Given the description of an element on the screen output the (x, y) to click on. 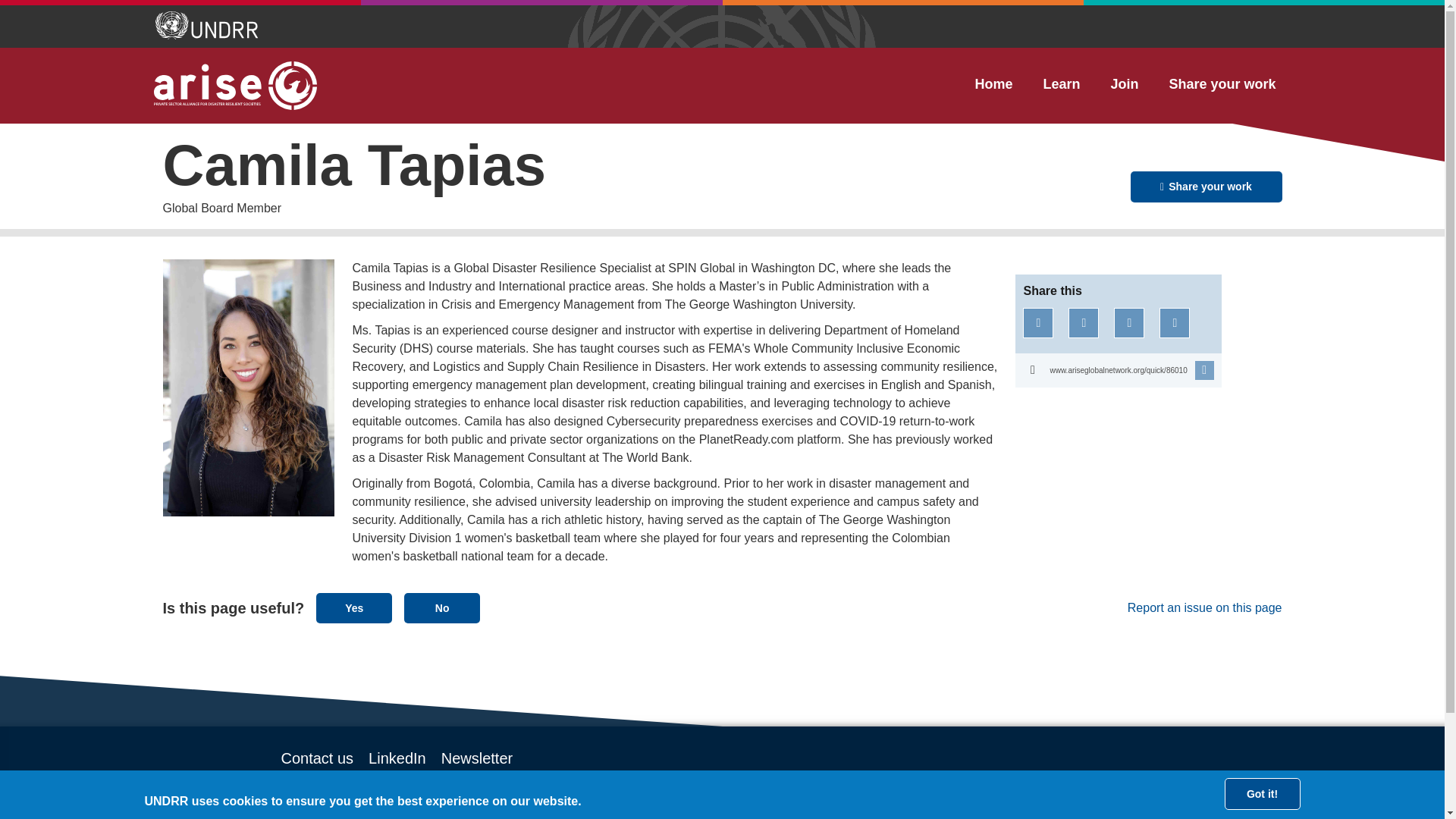
LinkedIn (397, 758)
Share your work (1221, 84)
No (442, 607)
Join (1123, 84)
Learn (1060, 84)
UNDRR Homepage (207, 26)
Yes (353, 607)
Report an issue on this page (1175, 607)
Contact us (317, 758)
